Given the description of an element on the screen output the (x, y) to click on. 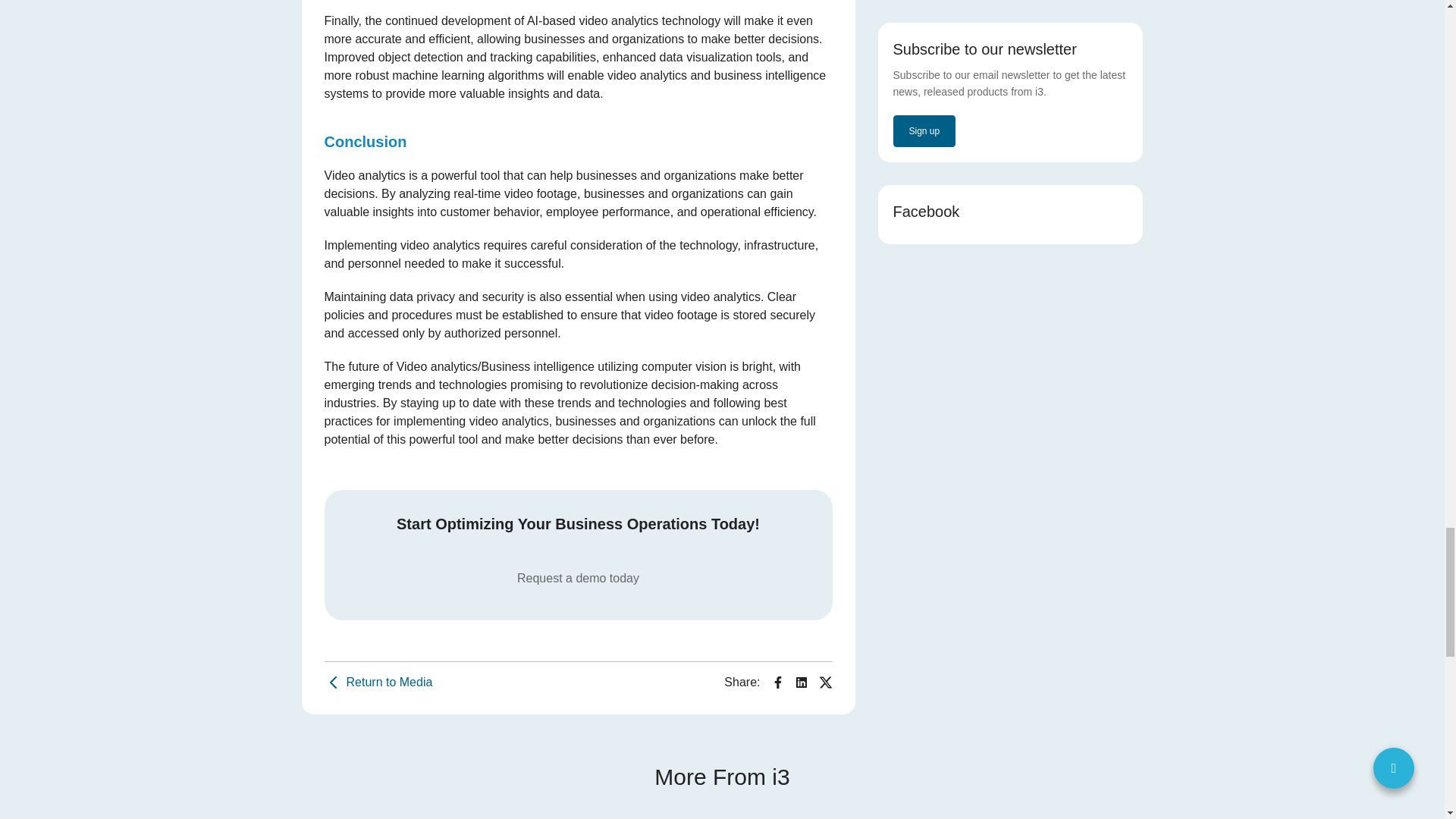
Return to Media (378, 682)
Request a demo today (578, 578)
